Given the description of an element on the screen output the (x, y) to click on. 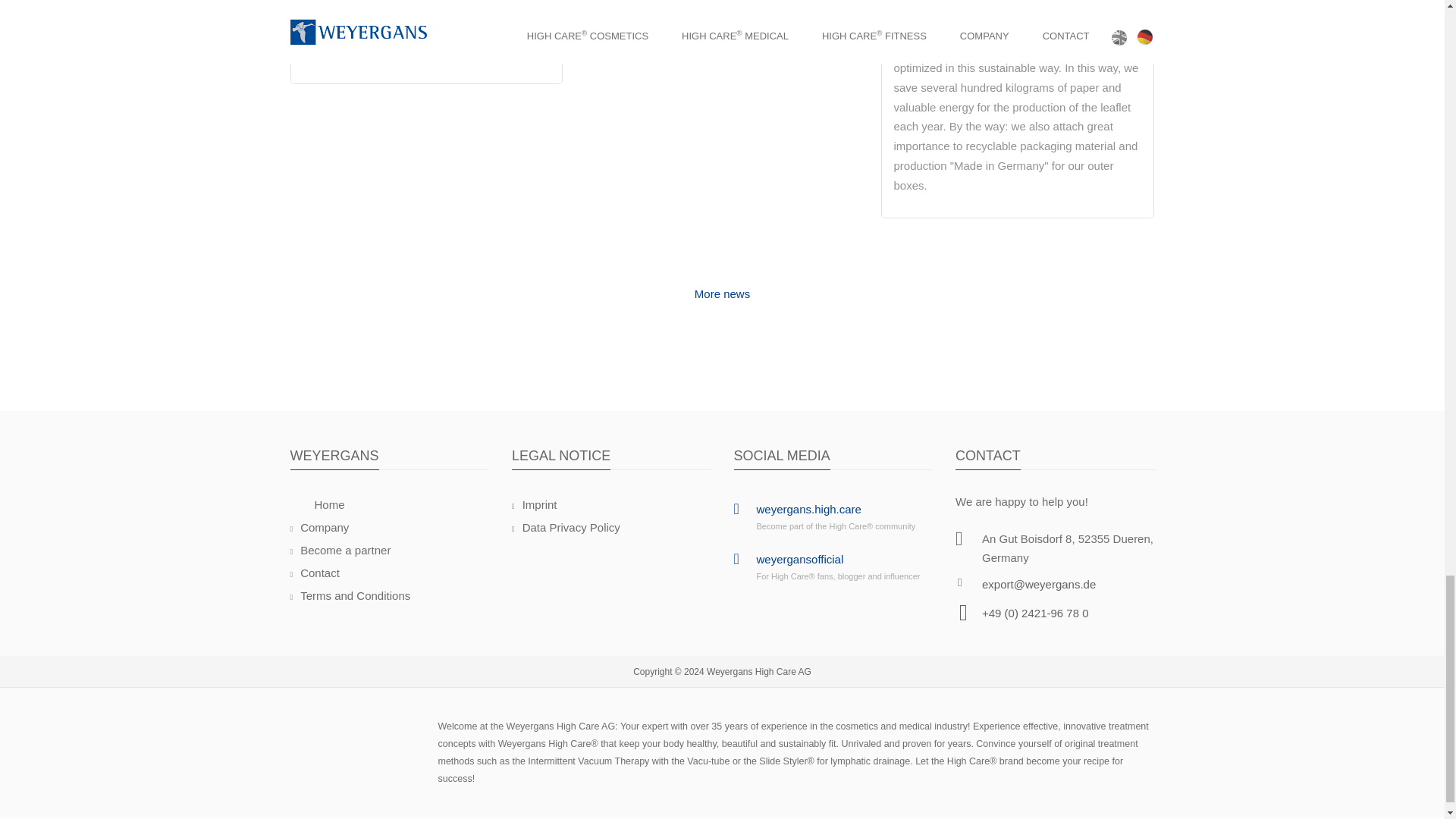
Become a partner (339, 549)
Company (319, 526)
Home (328, 504)
weyergansofficial (800, 558)
Data Privacy Policy (566, 526)
Terms and Conditions (349, 594)
weyergans.high.care (809, 508)
Contact (314, 572)
Imprint (534, 504)
More news (721, 316)
